Given the description of an element on the screen output the (x, y) to click on. 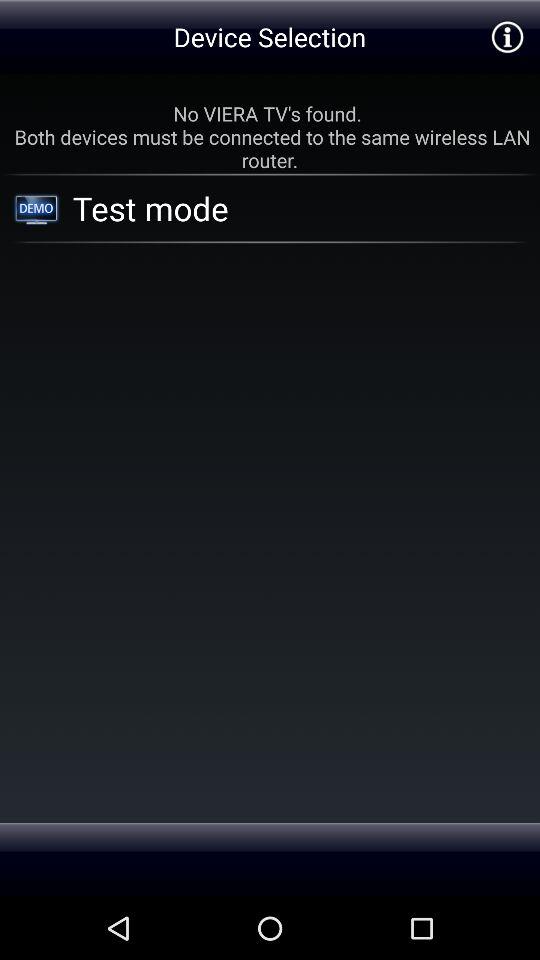
see information (506, 36)
